Given the description of an element on the screen output the (x, y) to click on. 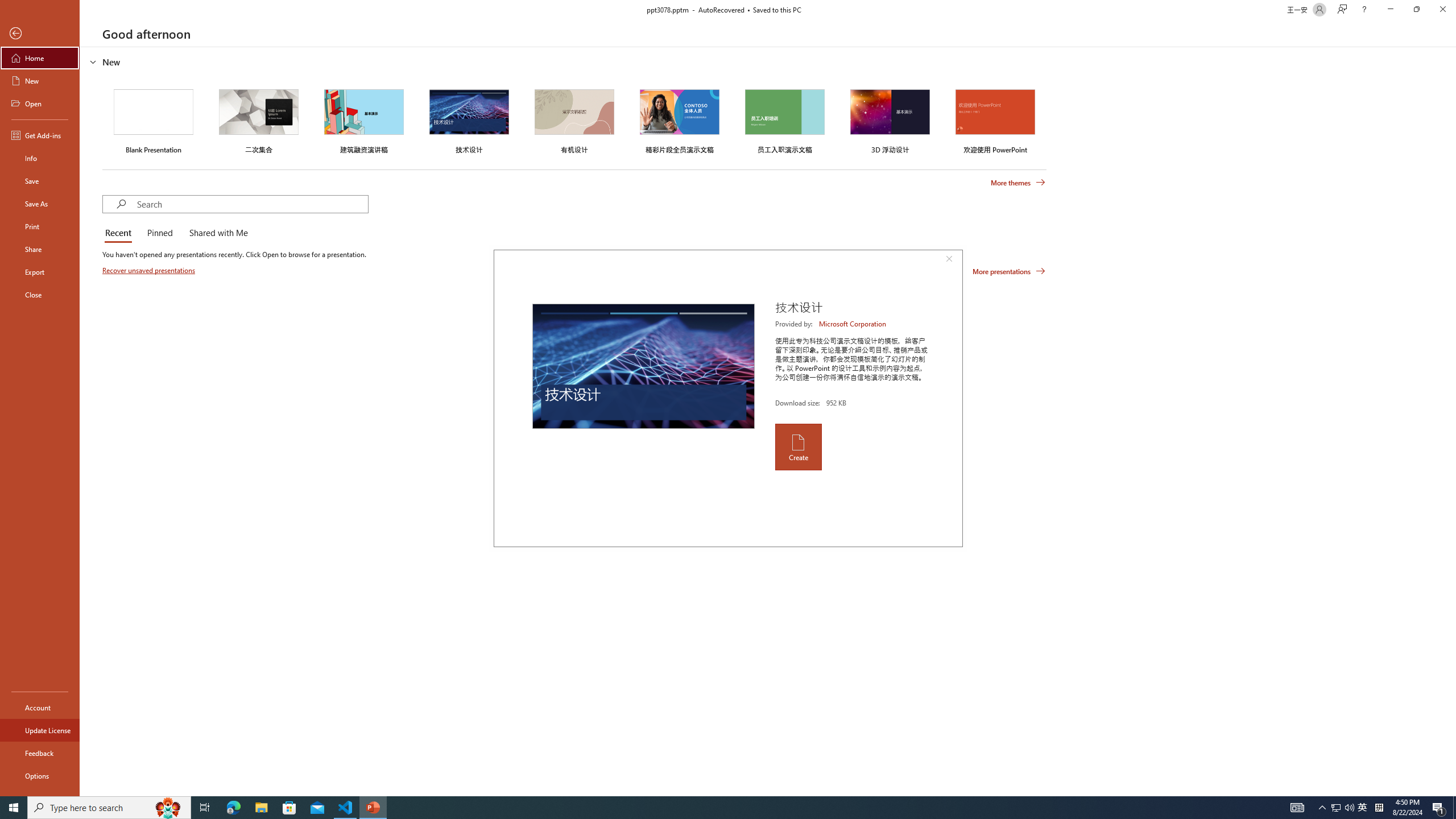
Export (40, 271)
Blank Presentation (153, 119)
Feedback (40, 753)
Print (40, 225)
Account (40, 707)
Back (40, 33)
